Given the description of an element on the screen output the (x, y) to click on. 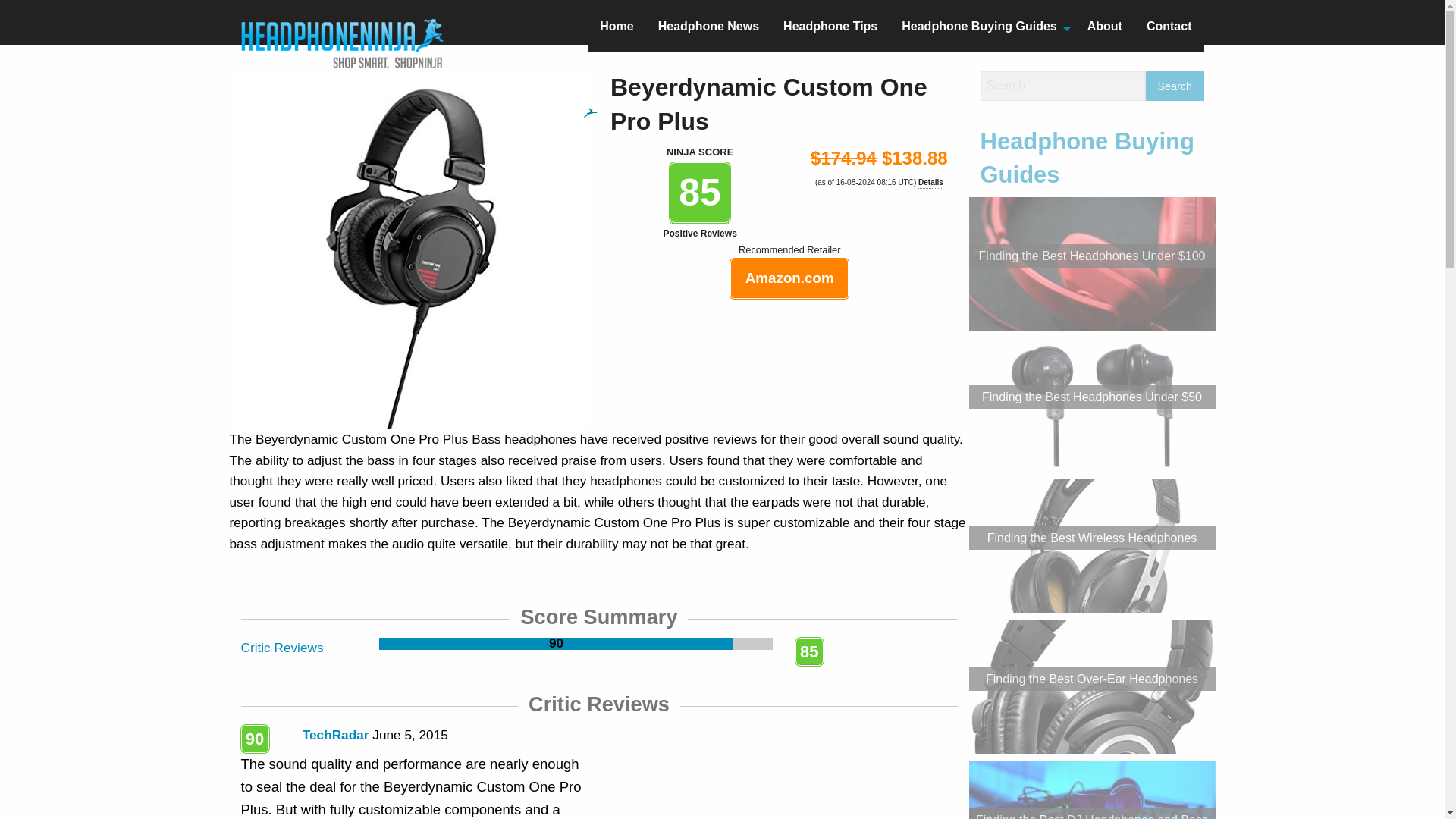
About (1104, 28)
Headphone Tips (830, 28)
Amazon.com (789, 278)
Home (616, 28)
Read Reviews (282, 647)
Read Reviews (574, 644)
Headphone Buying Guides (981, 28)
Headphone News (708, 28)
Contact (1169, 28)
Search (1174, 85)
